Given the description of an element on the screen output the (x, y) to click on. 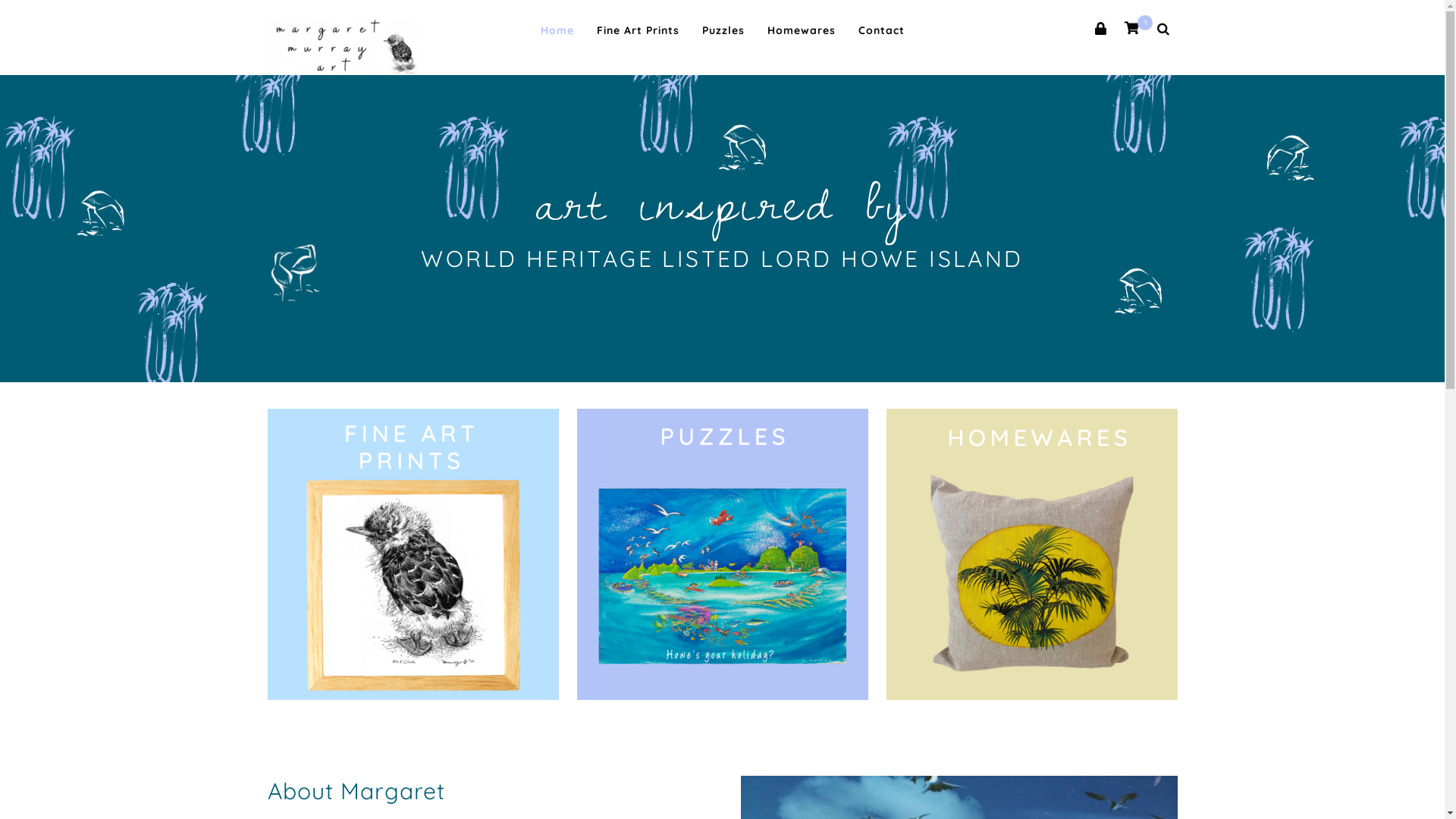
Fine Art Prints Element type: text (637, 30)
1 Element type: text (1131, 29)
Homewares Element type: text (801, 30)
Home Element type: text (556, 30)
Search Element type: text (17, 7)
Contact Element type: text (881, 30)
Puzzles Element type: text (723, 30)
art inspired by Element type: text (721, 199)
